Given the description of an element on the screen output the (x, y) to click on. 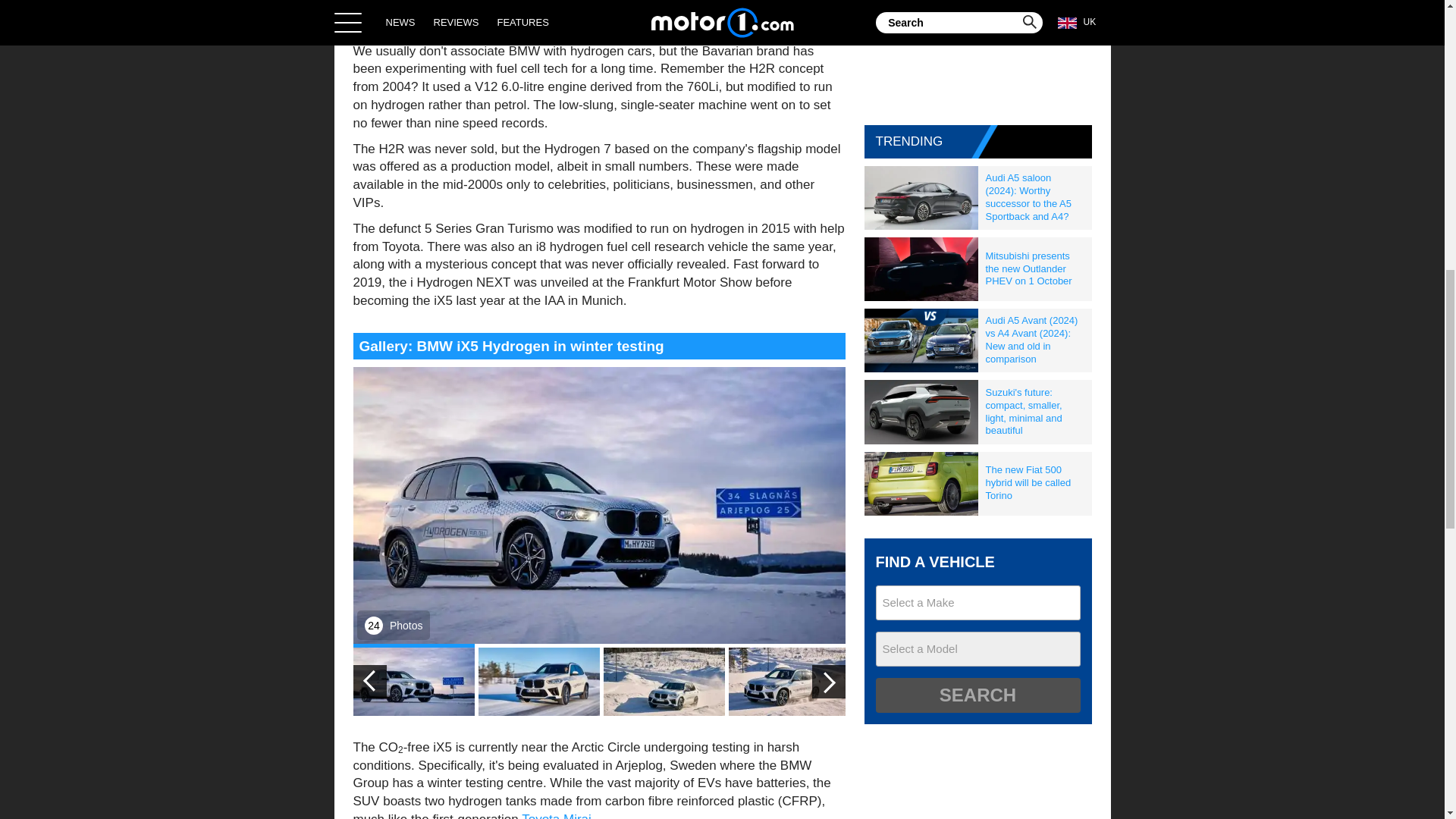
Toyota Mirai (556, 815)
Brian Potter (532, 1)
Search (977, 695)
